Given the description of an element on the screen output the (x, y) to click on. 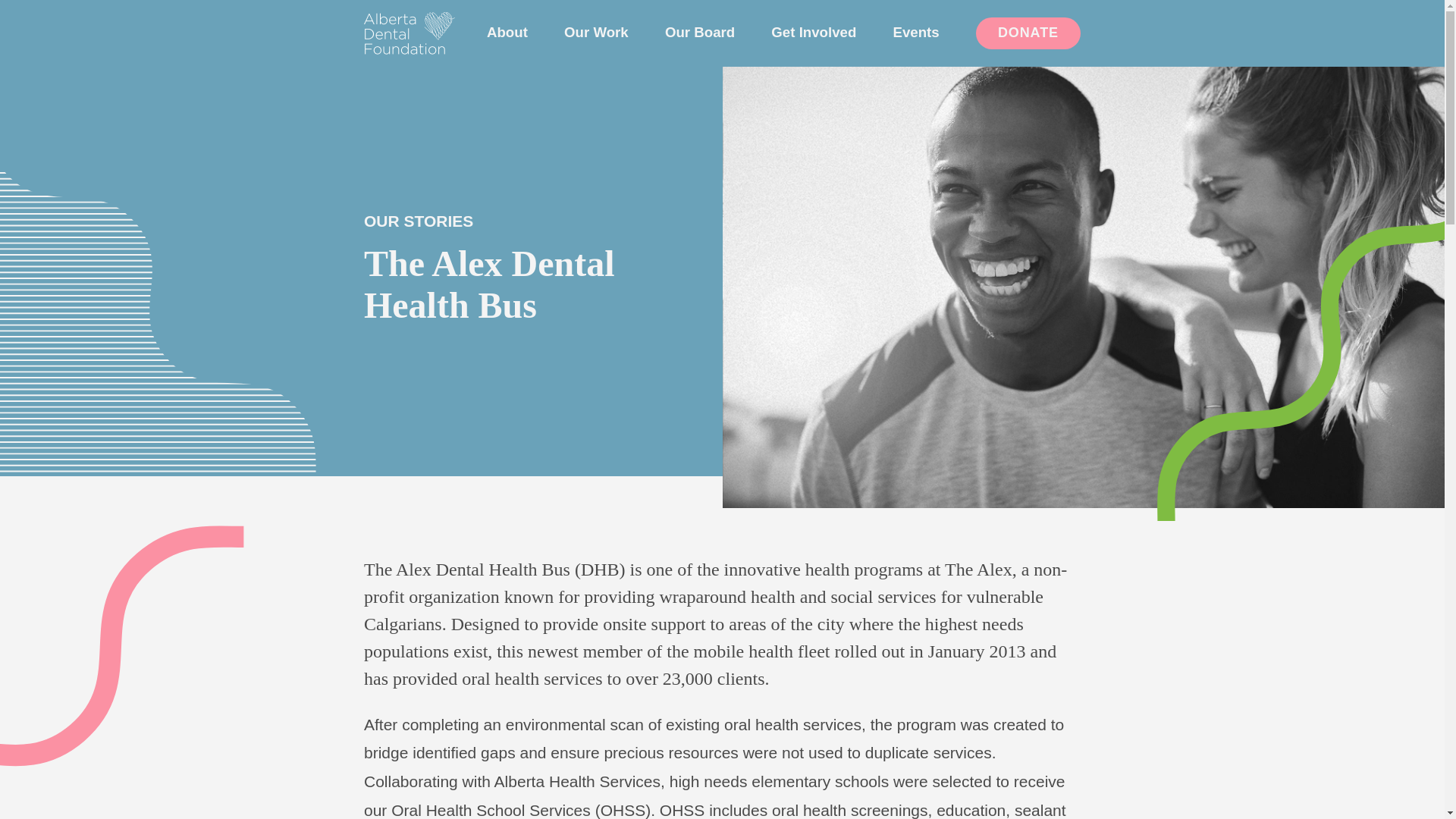
DONATE (1027, 33)
Events (916, 32)
Our Board (700, 32)
About (506, 32)
OUR STORIES (418, 221)
Get Involved (813, 32)
Our Work (596, 32)
Alberta Dental Foundation (409, 33)
